Given the description of an element on the screen output the (x, y) to click on. 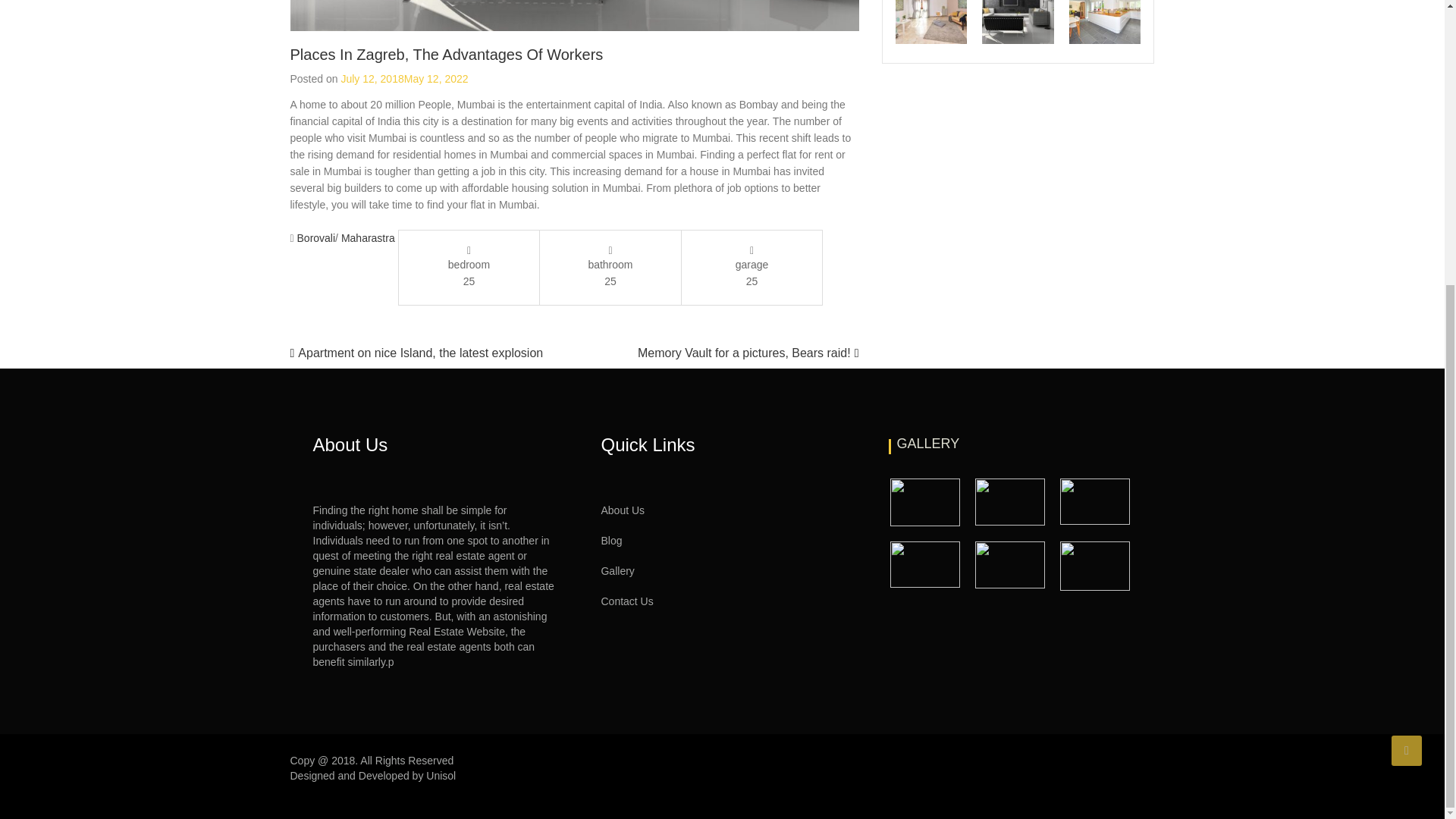
About Us (622, 509)
Borovali (316, 237)
July 12, 2018May 12, 2022 (403, 78)
Go to Top (1406, 321)
Memory Vault for a pictures, Bears raid! (743, 352)
Blog (610, 540)
Maharastra (367, 237)
Apartment on nice Island, the latest explosion (420, 352)
